Given the description of an element on the screen output the (x, y) to click on. 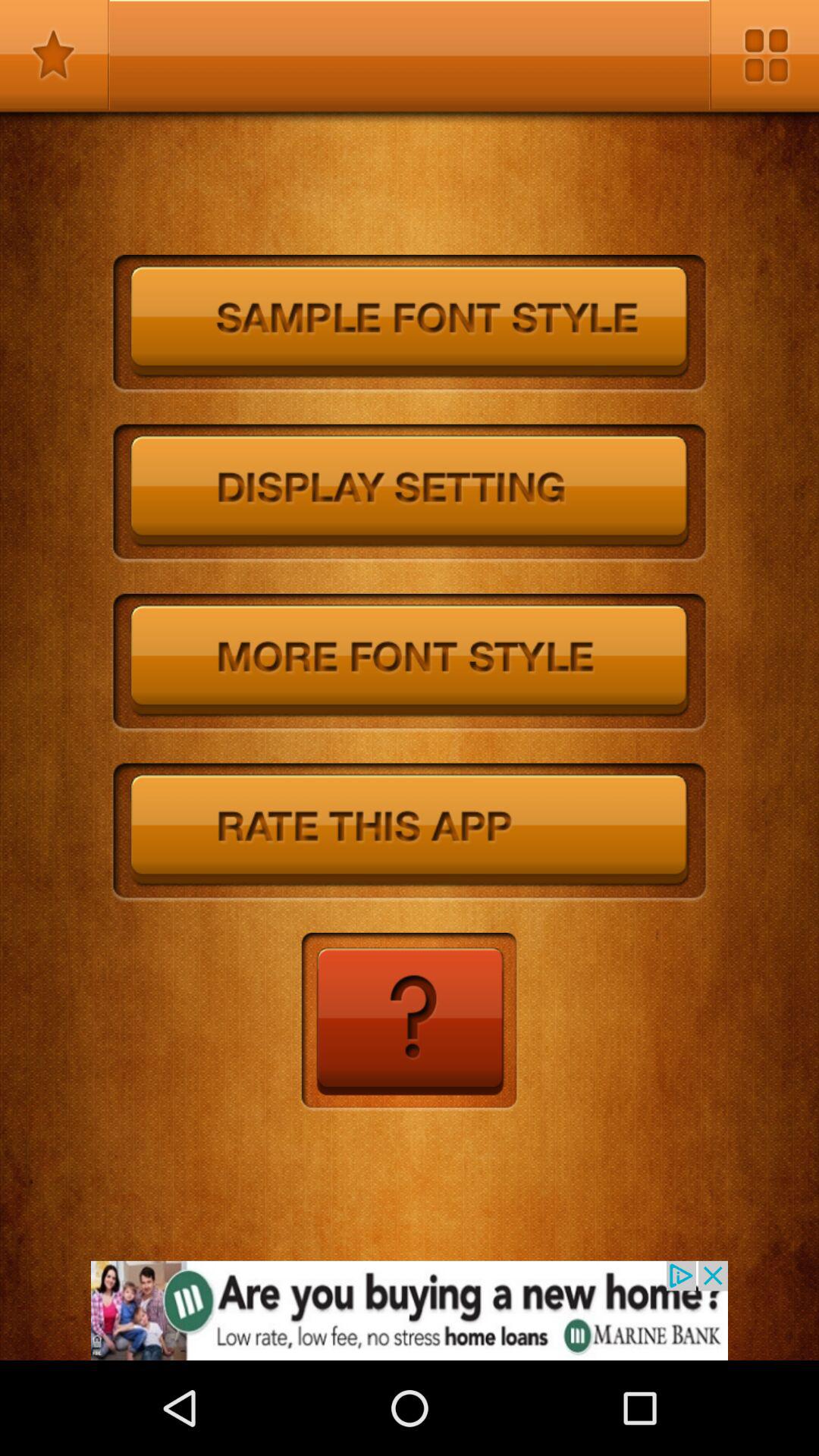
show settings (409, 493)
